Given the description of an element on the screen output the (x, y) to click on. 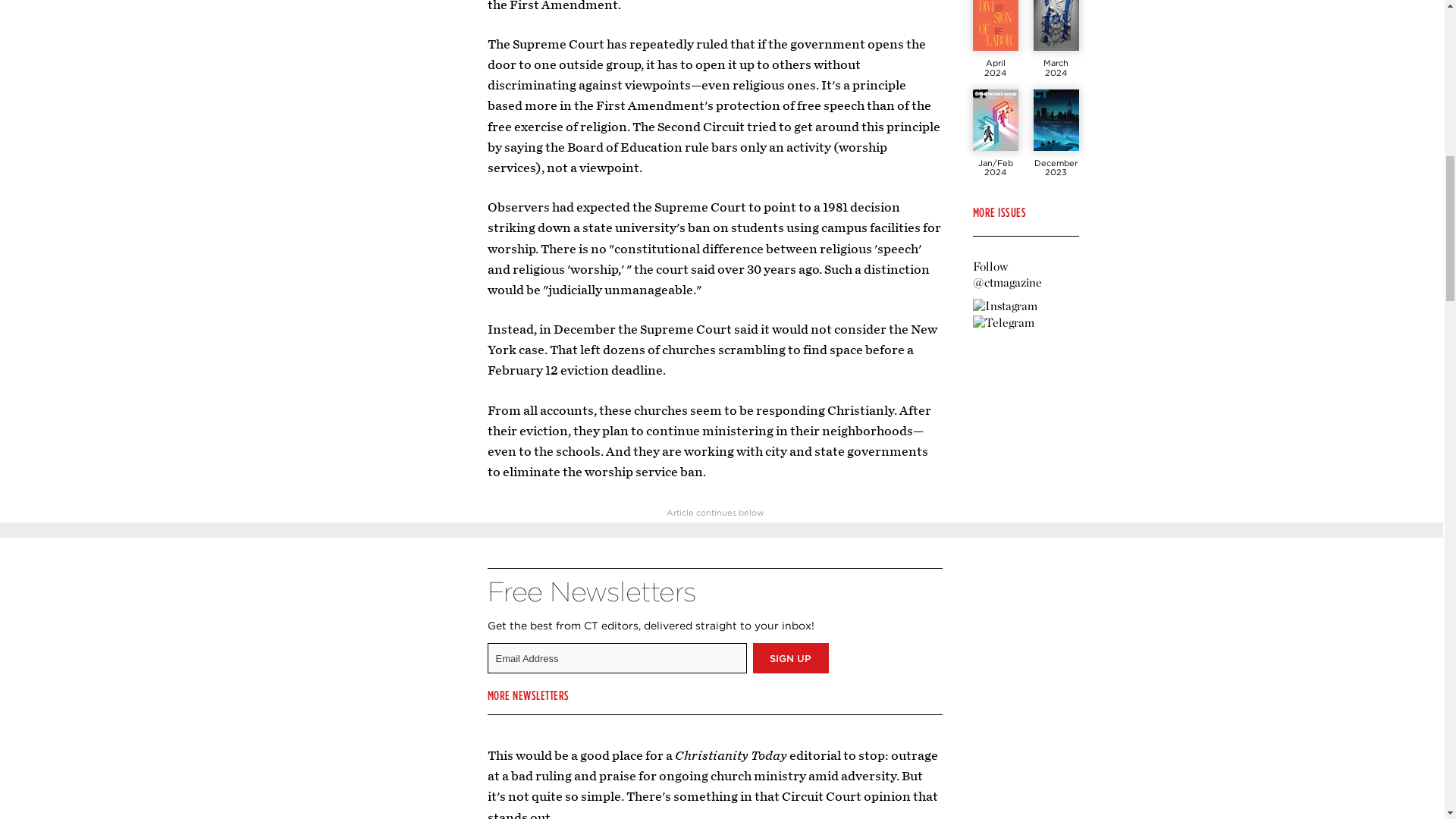
Email Address (615, 657)
Sign Up (790, 657)
